Given the description of an element on the screen output the (x, y) to click on. 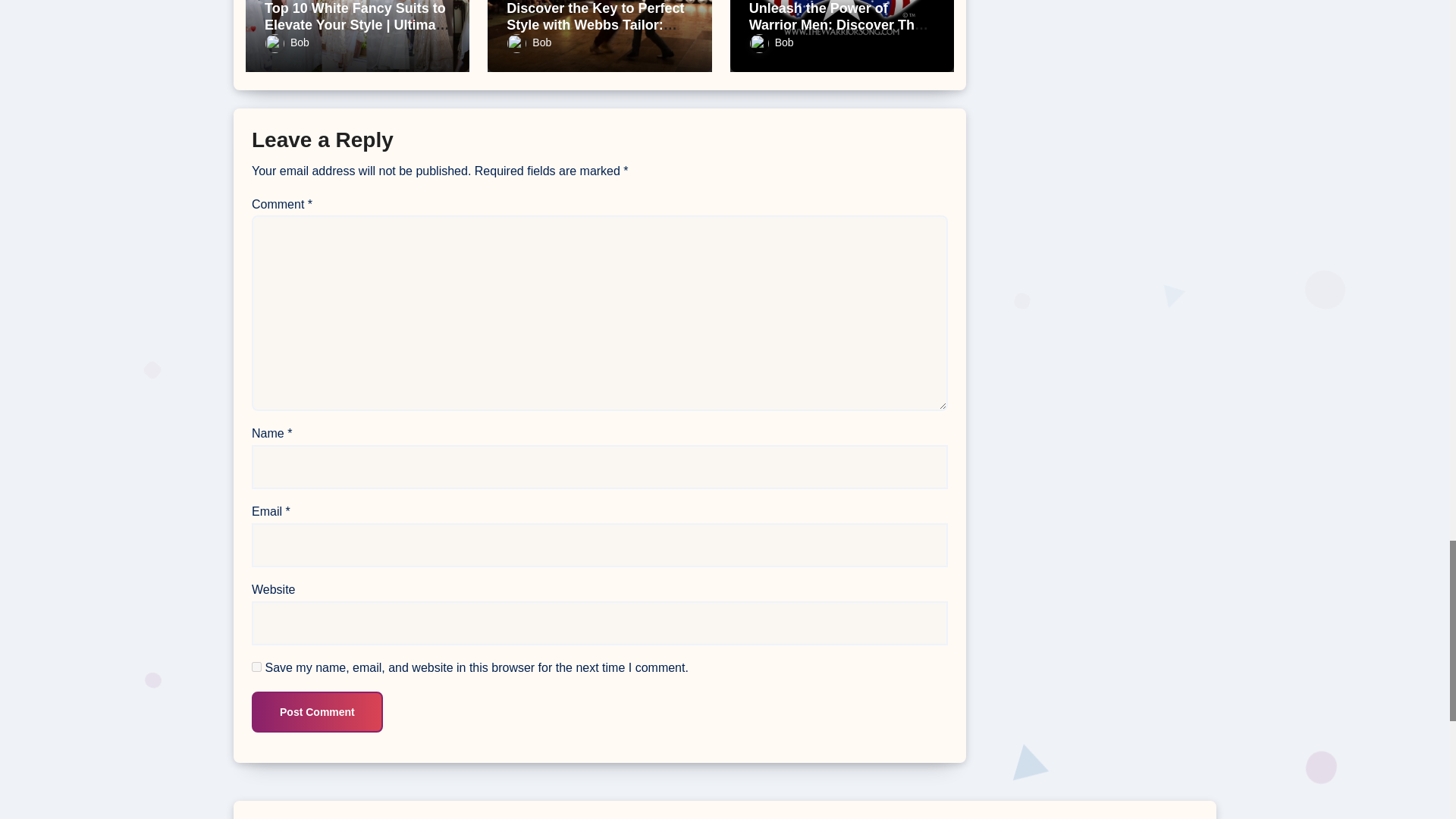
Post Comment (316, 711)
Bob (286, 42)
yes (256, 666)
